Given the description of an element on the screen output the (x, y) to click on. 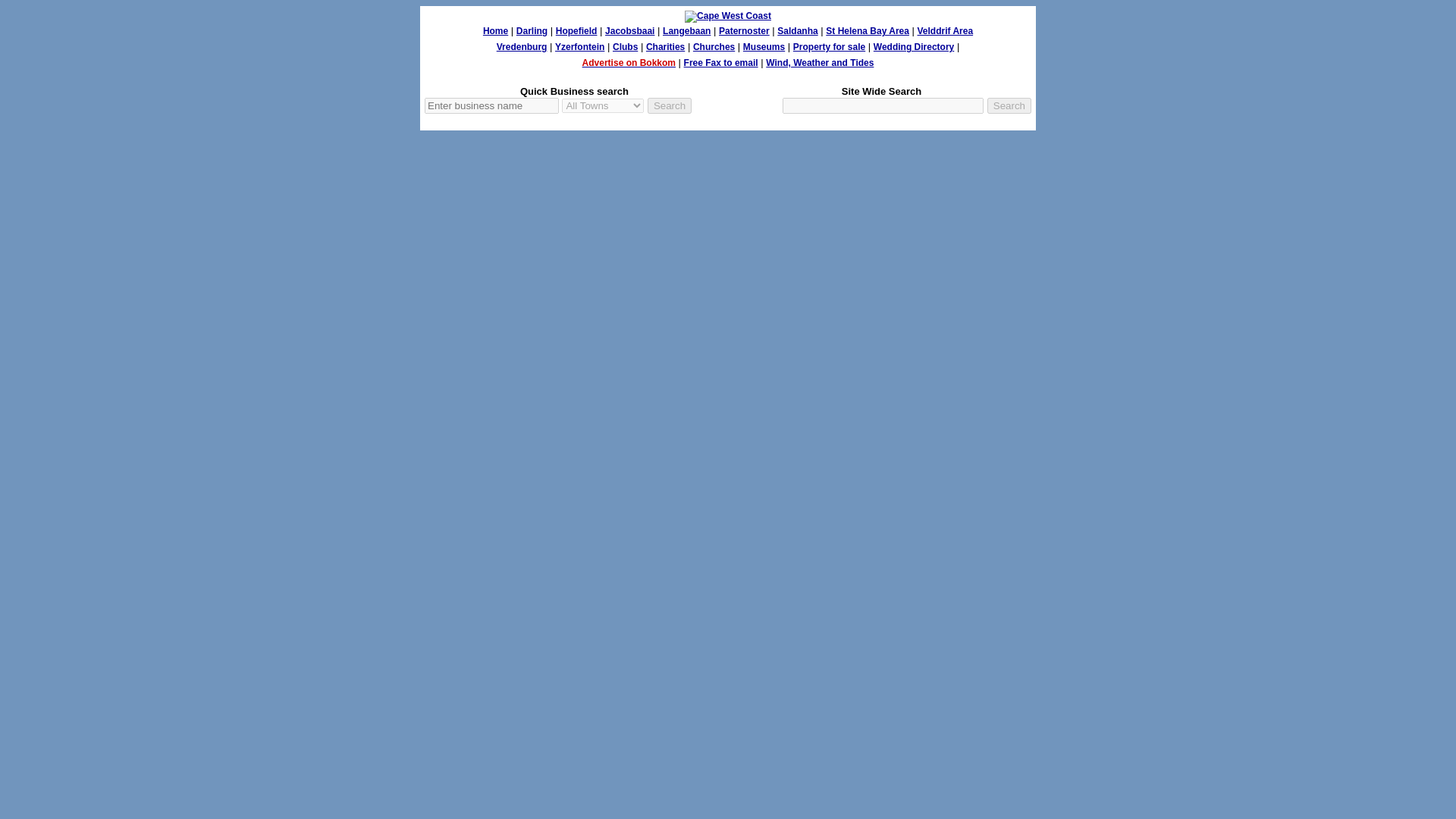
Langebaan (686, 30)
Wind, Weather and Tides (819, 62)
Property for sale (828, 46)
Home (495, 30)
Advertise on Bokkom (628, 62)
St Helena Bay Area (866, 30)
Jacobsbaai (629, 30)
Wedding Directory (913, 46)
Search (669, 105)
Velddrif Area (945, 30)
